Given the description of an element on the screen output the (x, y) to click on. 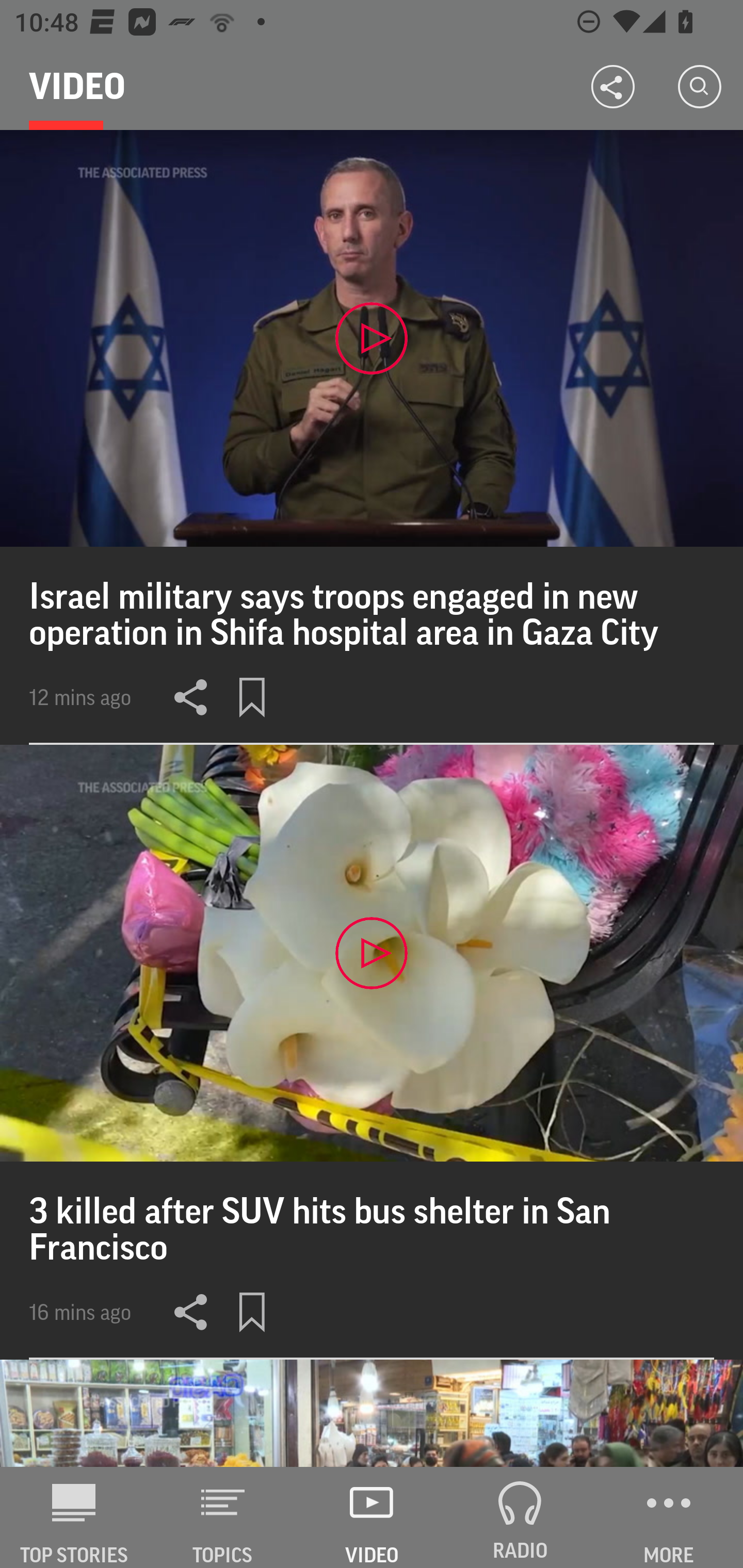
AP News TOP STORIES (74, 1517)
TOPICS (222, 1517)
VIDEO (371, 1517)
RADIO (519, 1517)
MORE (668, 1517)
